Given the description of an element on the screen output the (x, y) to click on. 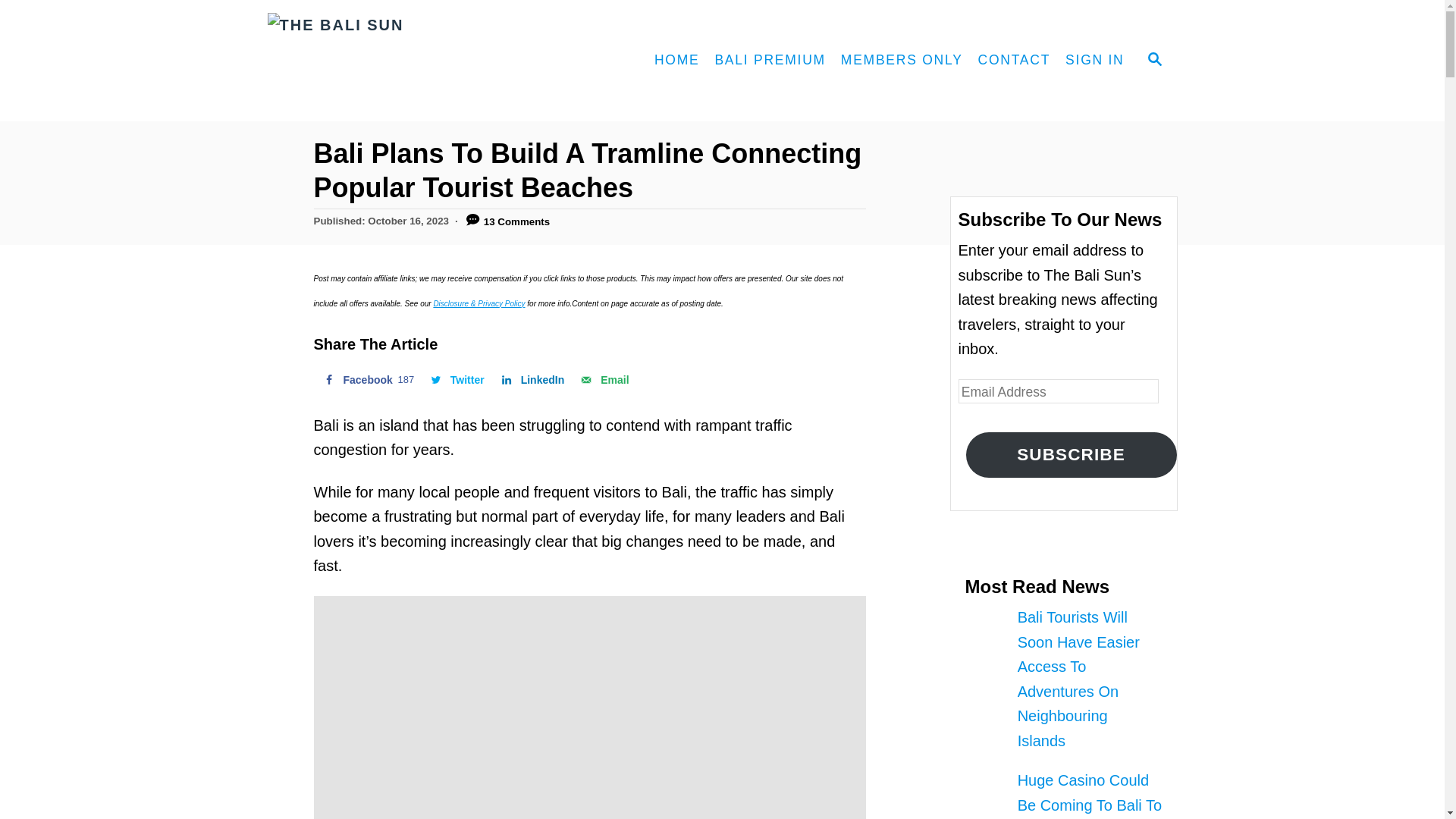
Share on LinkedIn (532, 379)
LinkedIn (532, 379)
Twitter (456, 379)
SIGN IN (1094, 60)
Send over email (602, 379)
Share on Twitter (456, 379)
The Bali Sun (403, 60)
CONTACT (1014, 60)
Email (602, 379)
